Given the description of an element on the screen output the (x, y) to click on. 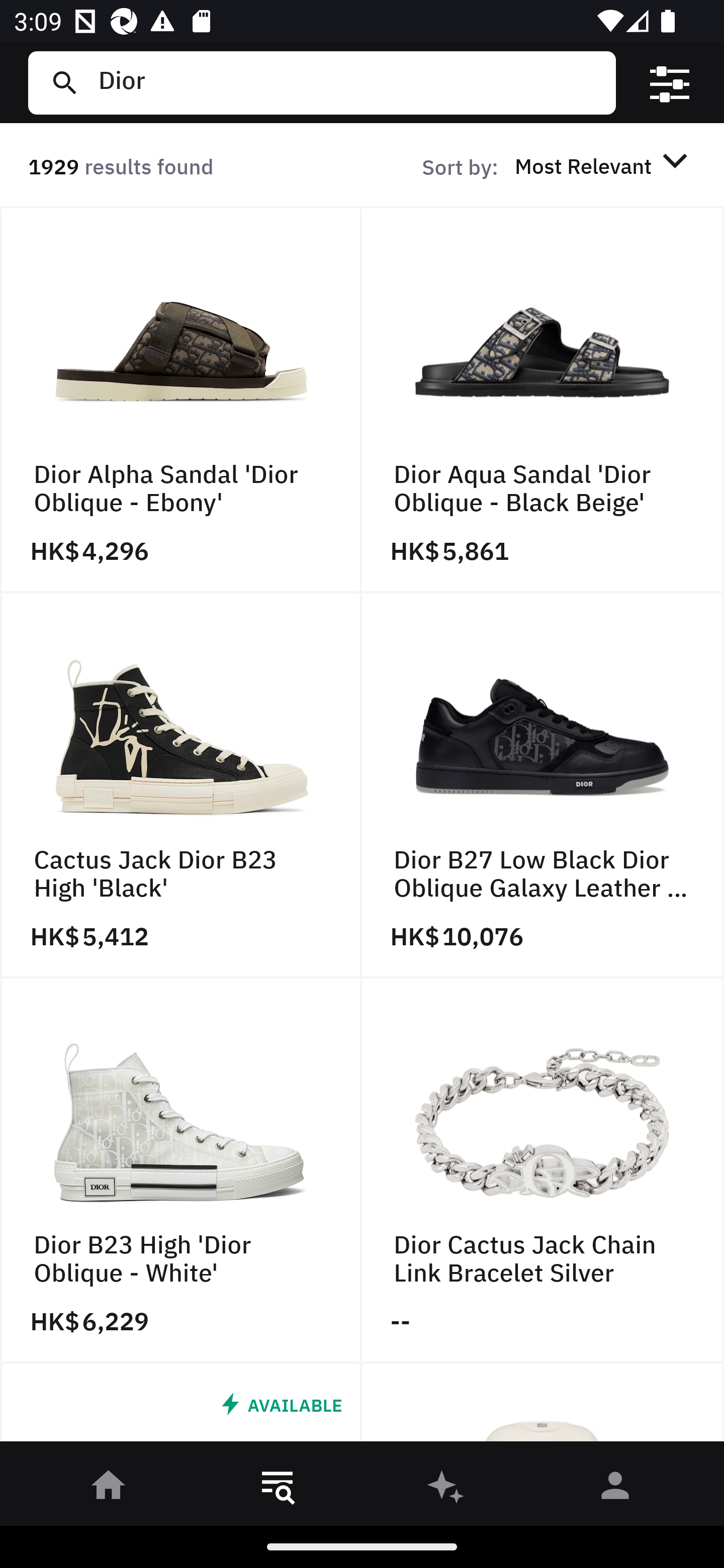
Dior (349, 82)
 (669, 82)
Most Relevant  (604, 165)
Dior Alpha Sandal 'Dior Oblique - Ebony' HK$ 4,296 (181, 399)
Cactus Jack Dior B23 High 'Black' HK$ 5,412 (181, 785)
Dior B23 High 'Dior Oblique - White' HK$ 6,229 (181, 1171)
Dior Cactus Jack Chain Link Bracelet Silver -- (543, 1171)
󰋜 (108, 1488)
󱎸 (277, 1488)
󰫢 (446, 1488)
󰀄 (615, 1488)
